Given the description of an element on the screen output the (x, y) to click on. 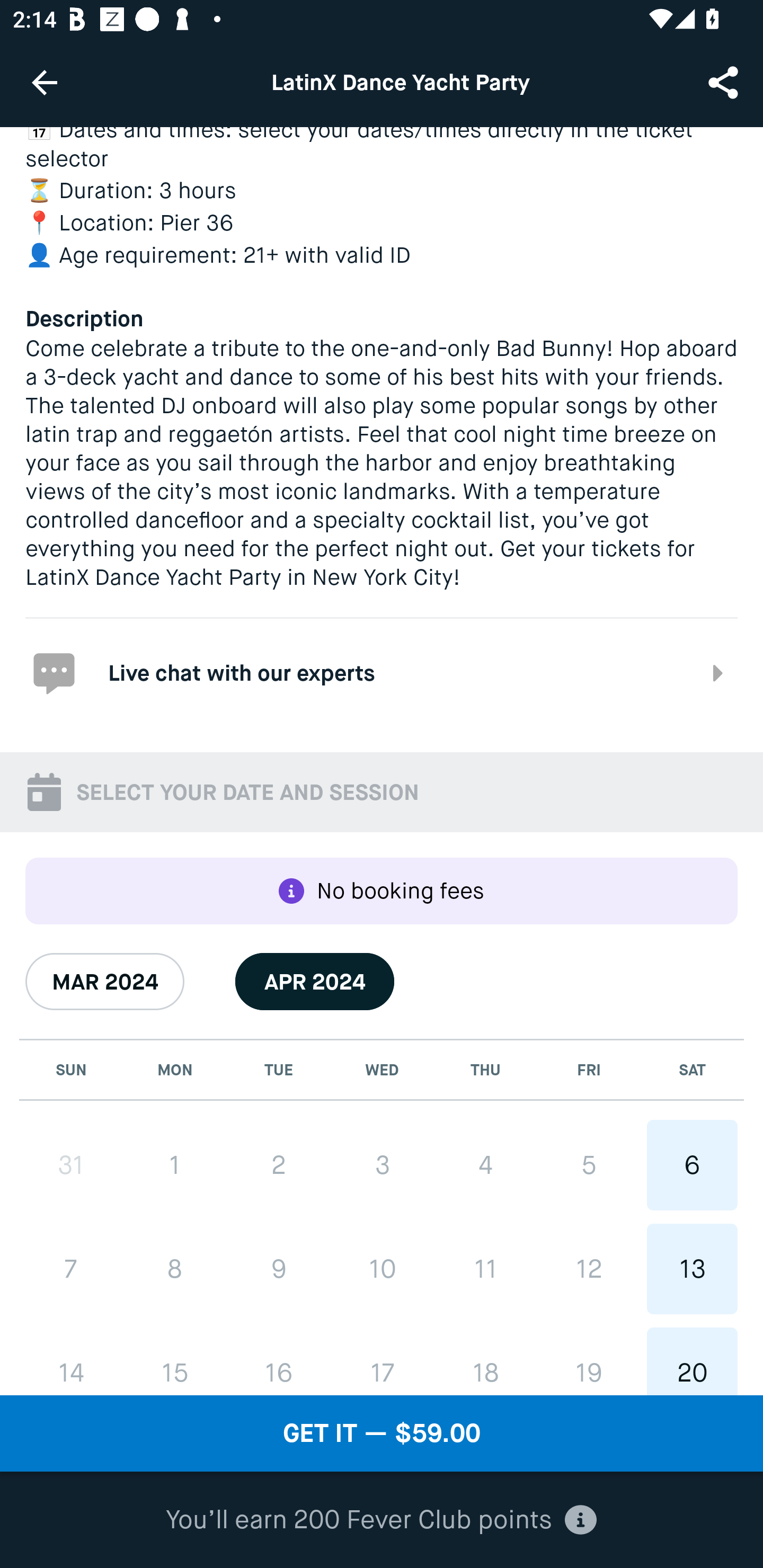
Navigate up (44, 82)
Share (724, 81)
Live chat with our experts (381, 672)
MAR 2024 (104, 981)
APR 2024 (314, 981)
31 (70, 1164)
1 (174, 1164)
2 (278, 1164)
3 (382, 1164)
4 (485, 1164)
5 (588, 1164)
6 (692, 1164)
7 (70, 1269)
8 (174, 1269)
9 (278, 1269)
10 (382, 1268)
11 (485, 1268)
12 (588, 1268)
13 (692, 1268)
14 (70, 1361)
15 (174, 1361)
16 (278, 1361)
17 (382, 1361)
18 (485, 1361)
19 (588, 1361)
20 (692, 1361)
GET IT — $59.00 (381, 1433)
You’ll earn 200 Fever Club points (380, 1519)
